Given the description of an element on the screen output the (x, y) to click on. 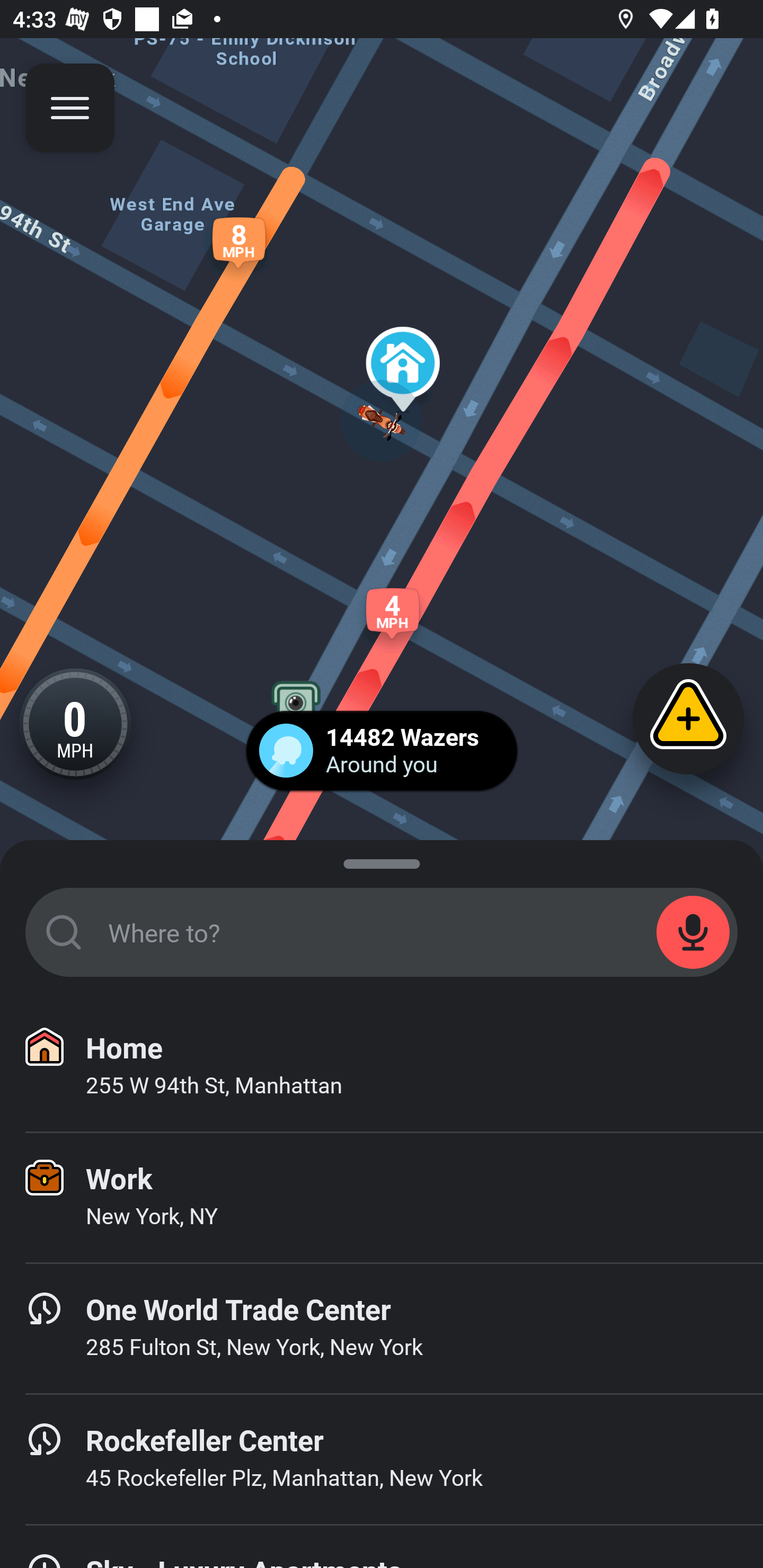
SUGGESTIONS_SHEET_DRAG_HANDLE (381, 860)
START_STATE_SEARCH_FIELD Where to? (381, 931)
Home 255 W 94th St, Manhattan (381, 1066)
Work New York, NY (381, 1197)
